Given the description of an element on the screen output the (x, y) to click on. 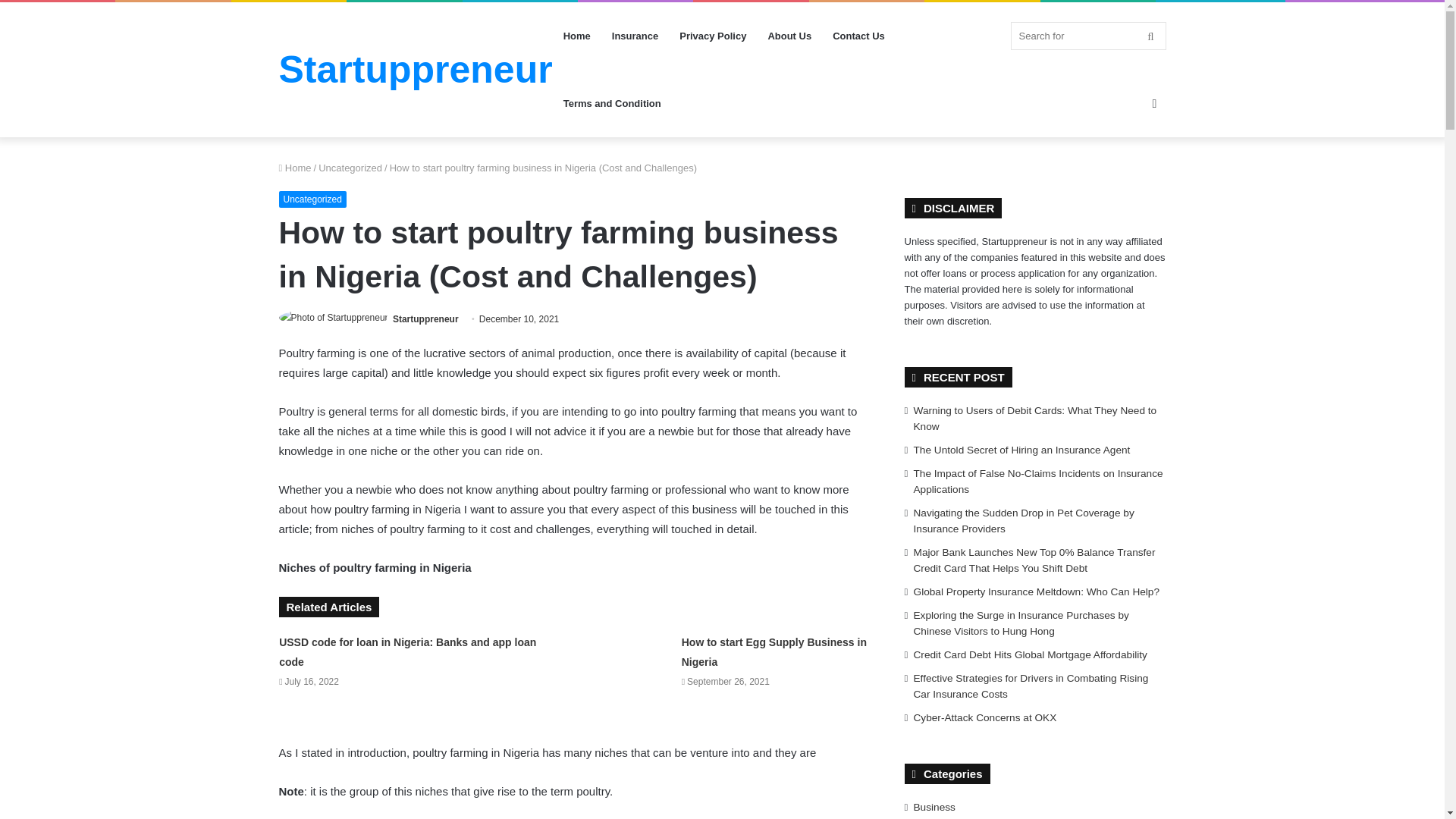
Warning to Users of Debit Cards: What They Need to Know (1035, 418)
About Us (789, 35)
Startuppreneur (425, 318)
Startuppreneur (416, 69)
The Untold Secret of Hiring an Insurance Agent (1022, 449)
Uncategorized (349, 167)
Terms and Condition (612, 103)
Contact Us (858, 35)
Privacy Policy (712, 35)
Home (295, 167)
